Given the description of an element on the screen output the (x, y) to click on. 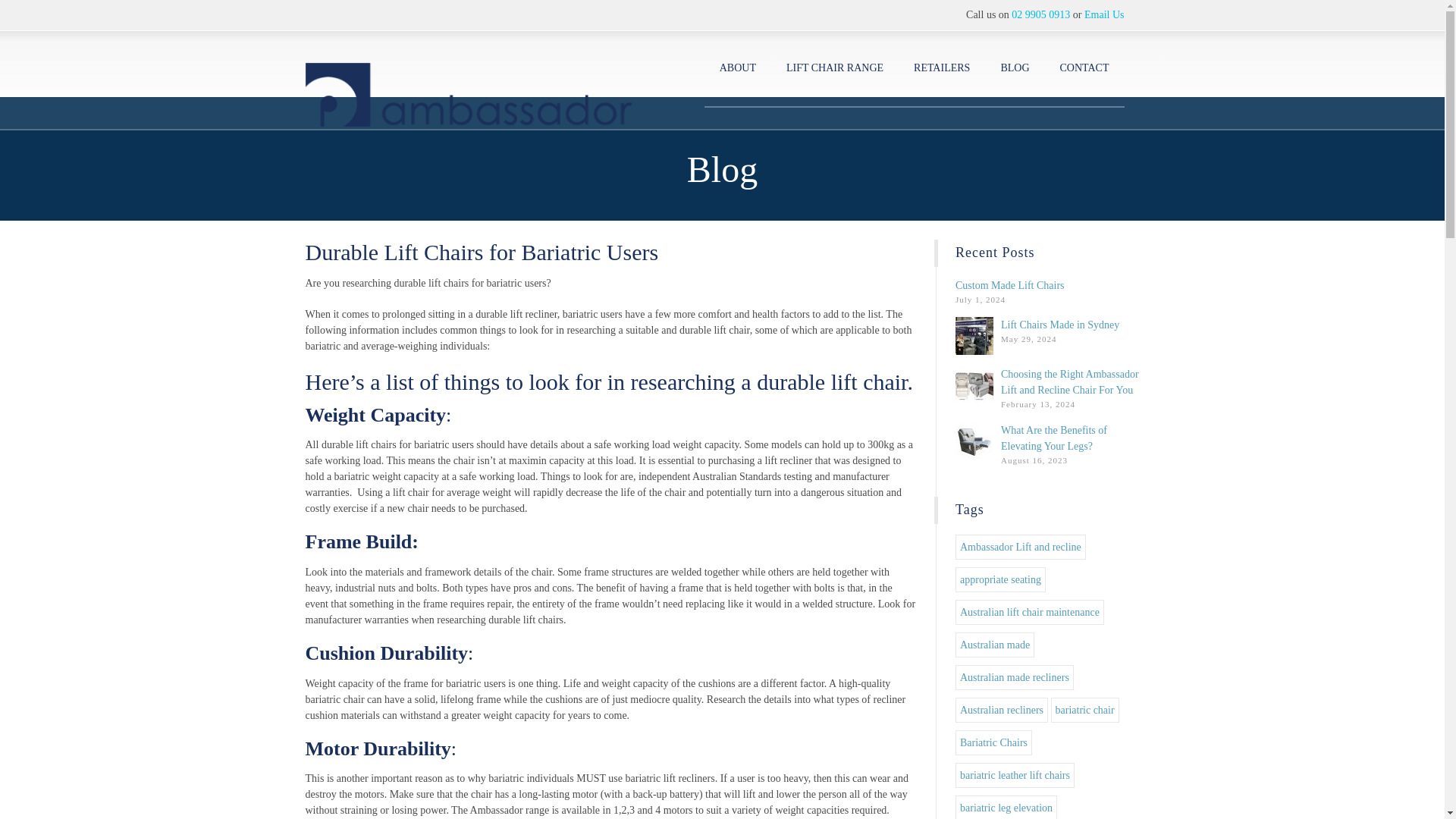
RETAILERS (941, 68)
CONTACT (1084, 68)
Ambassador Lift and recline (1020, 546)
Custom Made Lift Chairs (1009, 285)
02 9905 0913 (1040, 14)
Lift Chairs Made in Sydney (1060, 324)
appropriate seating (1000, 579)
What Are the Benefits of Elevating Your Legs? (1053, 438)
LIFT CHAIR RANGE (834, 68)
Choosing the Right Ambassador Lift and Recline Chair For You (1069, 381)
Ambassador Products (467, 79)
Email Us (1104, 14)
Custom Made Lift Chairs (1009, 285)
Lift Chairs Made in Sydney (1060, 324)
